Given the description of an element on the screen output the (x, y) to click on. 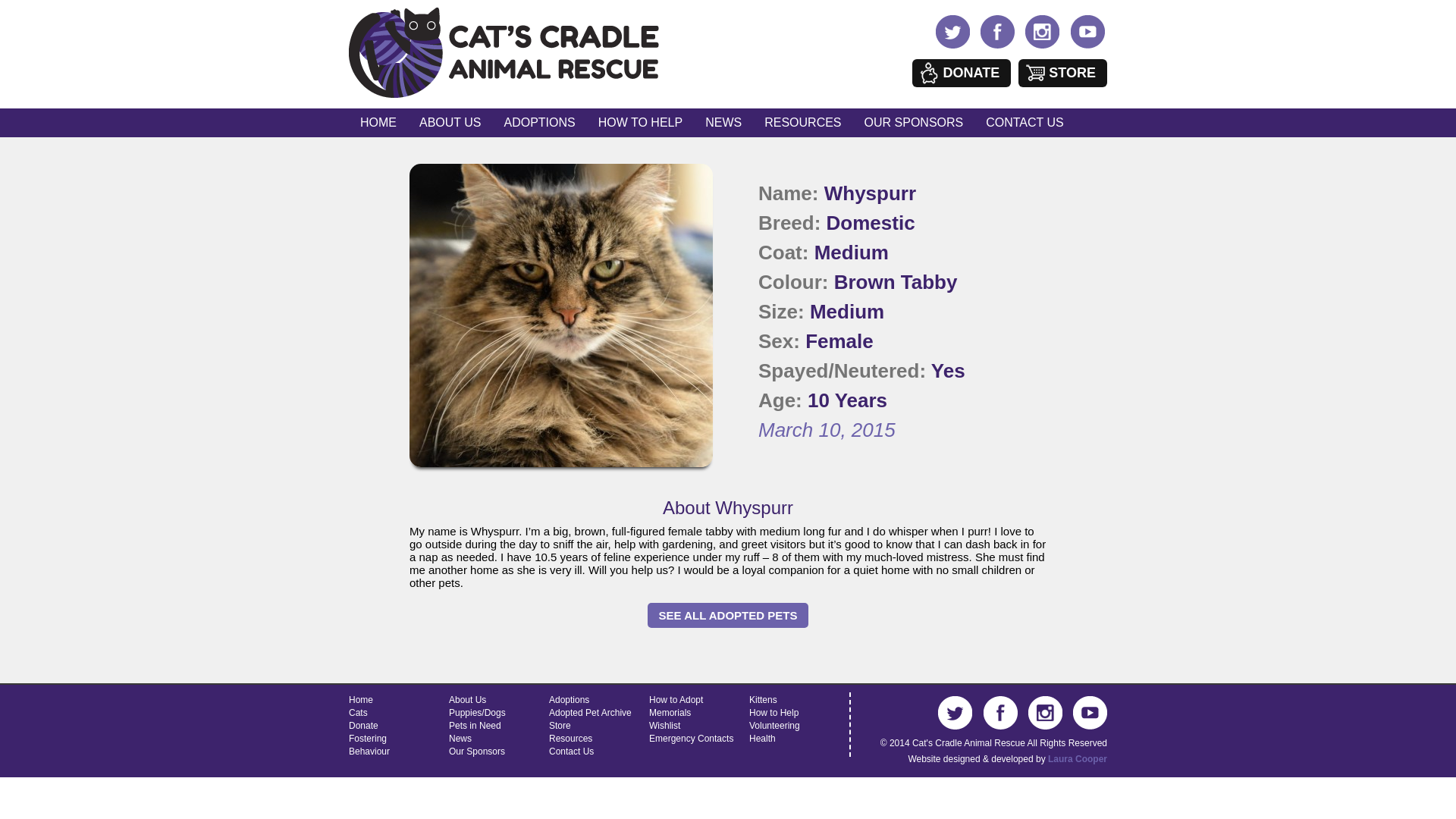
Home (360, 699)
ABOUT US (450, 122)
STORE (1061, 72)
DONATE (961, 72)
About Us (467, 699)
How to Adopt (676, 699)
HOME (378, 122)
Adoptions (568, 699)
HOW TO HELP (640, 122)
ADOPTIONS (539, 122)
Kittens (763, 699)
RESOURCES (801, 122)
SEE ALL ADOPTED PETS (728, 615)
Cats (358, 712)
NEWS (723, 122)
